Given the description of an element on the screen output the (x, y) to click on. 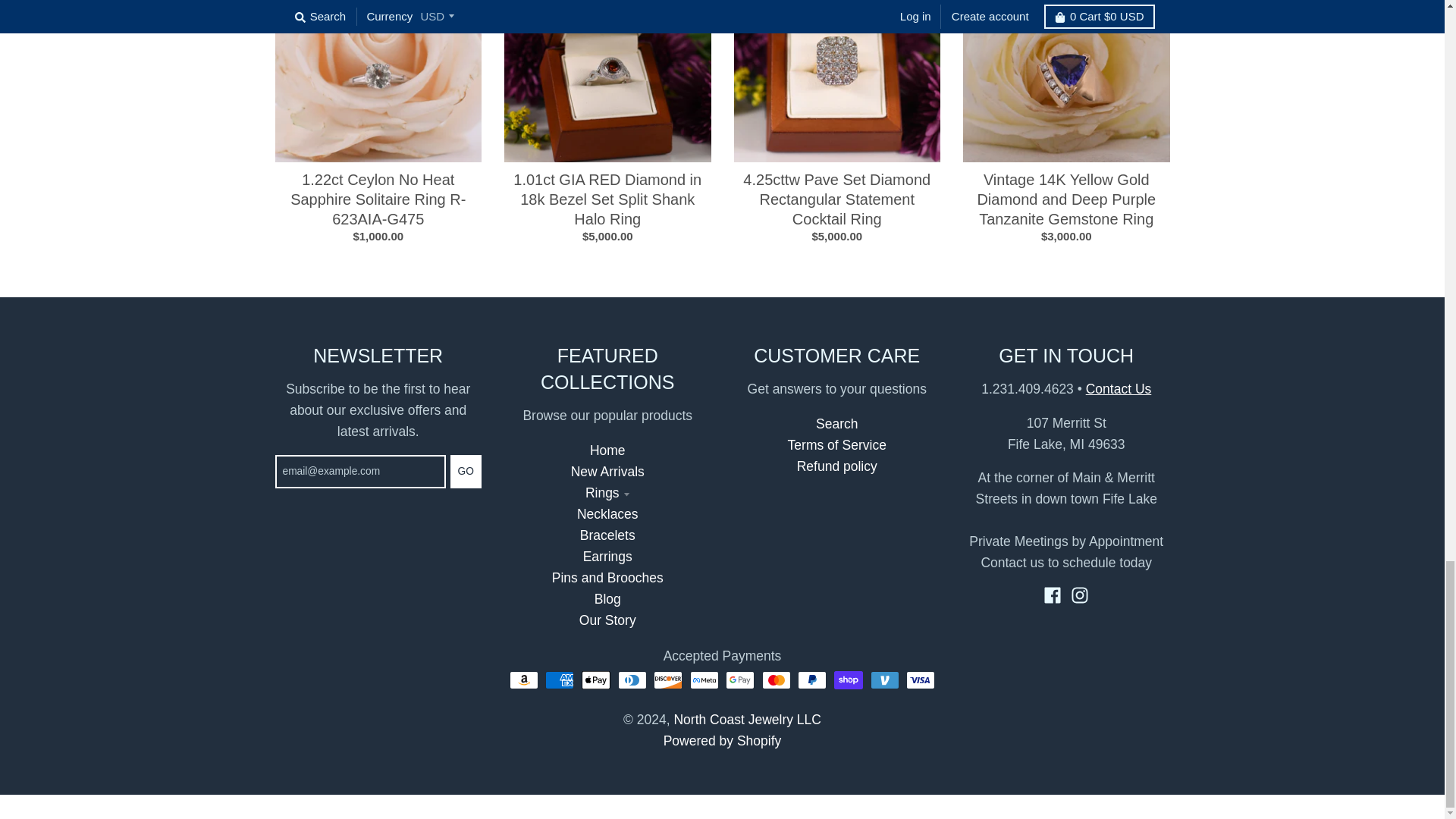
Facebook - North Coast Jewelry LLC (1052, 595)
Instagram - North Coast Jewelry LLC (1079, 595)
